Given the description of an element on the screen output the (x, y) to click on. 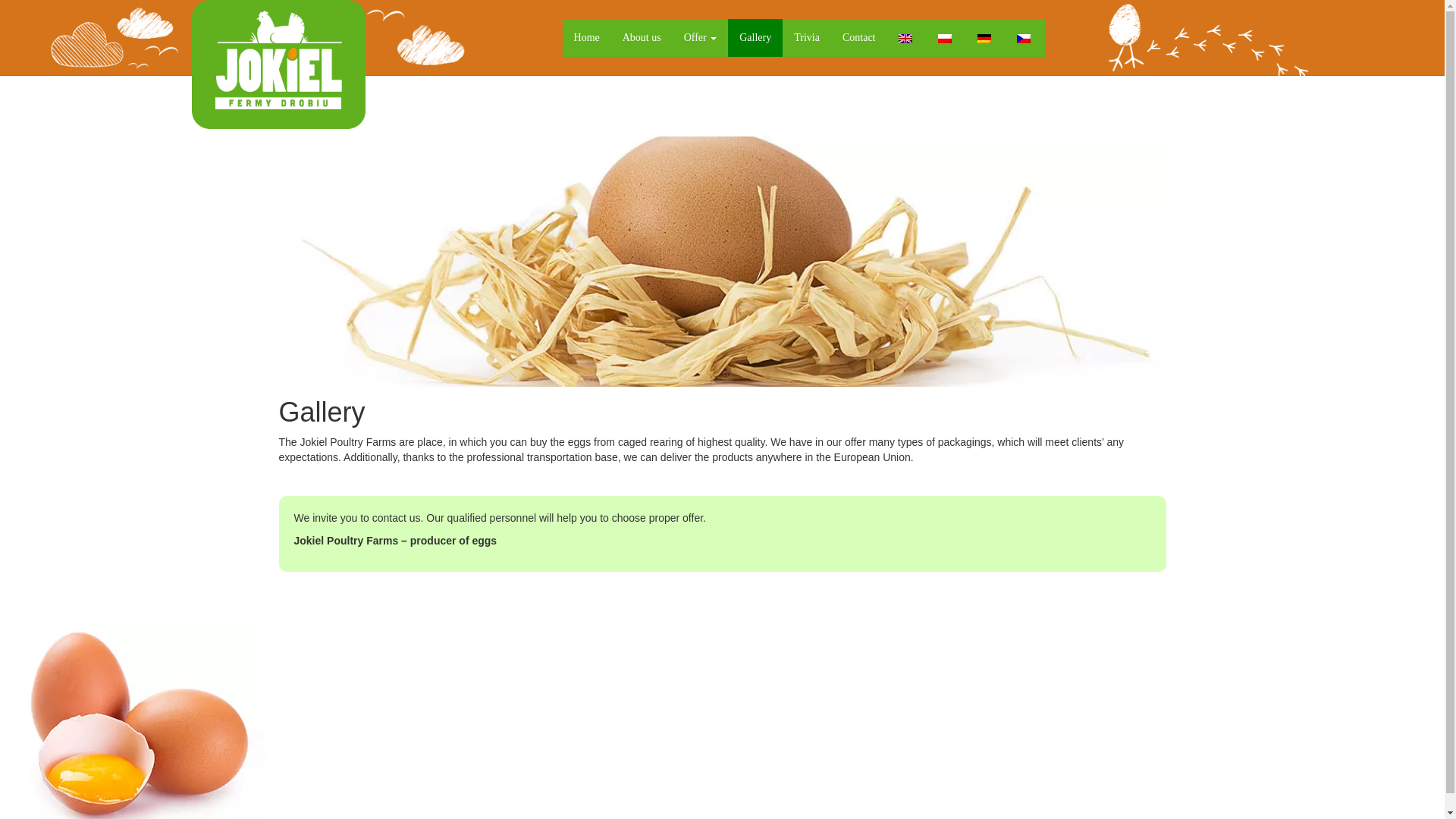
Trivia (807, 37)
Gallery (755, 37)
About us (641, 37)
Deutsch (983, 38)
Home (586, 37)
Trivia (807, 37)
Contact (858, 37)
English (904, 38)
Offer (700, 37)
Gallery (755, 37)
